Given the description of an element on the screen output the (x, y) to click on. 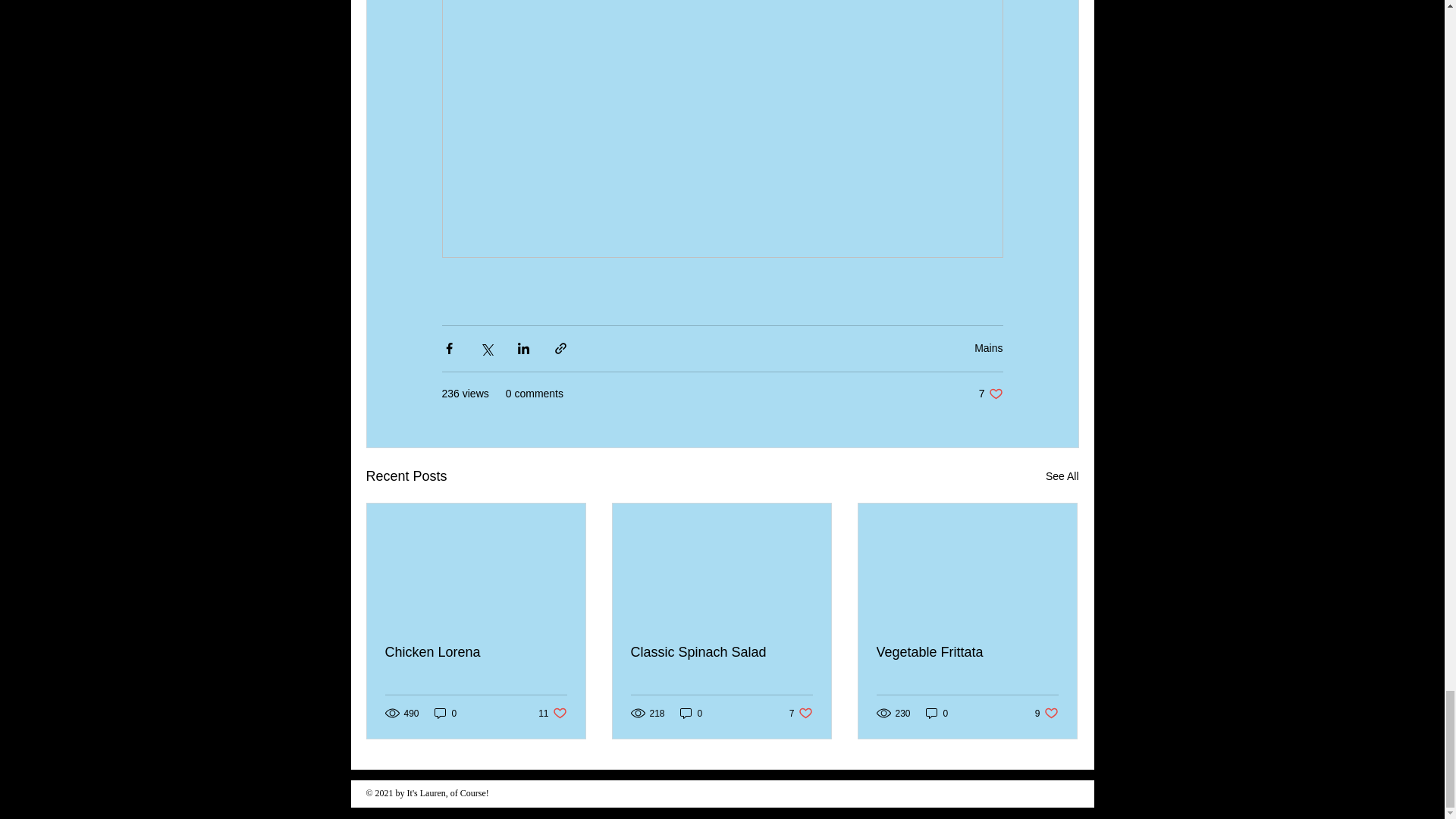
Chicken Lorena (476, 652)
0 (445, 712)
See All (1061, 476)
Mains (990, 393)
